Given the description of an element on the screen output the (x, y) to click on. 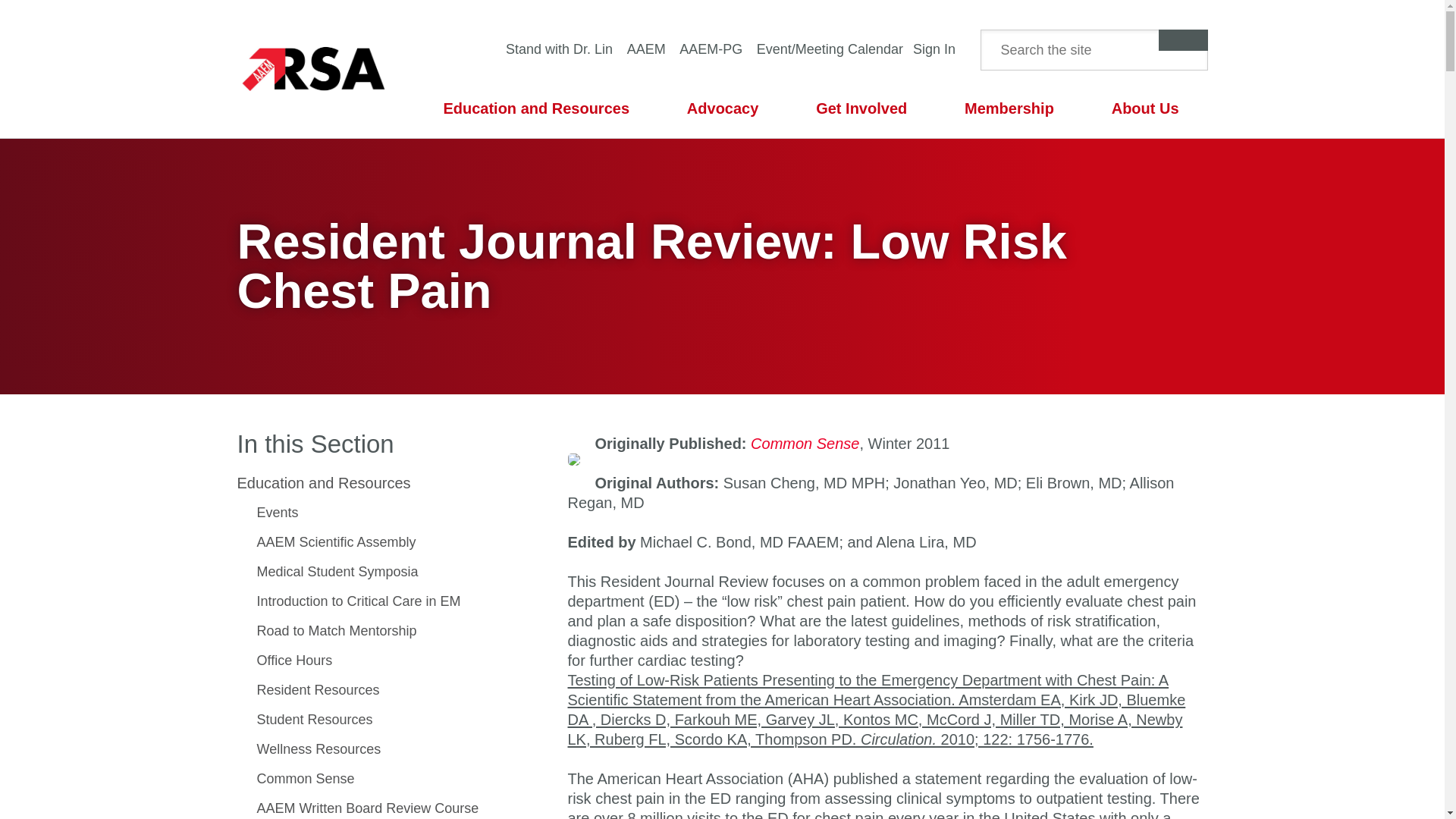
Get Involved (861, 108)
Education and Resources (535, 108)
Sign In (933, 48)
AAEM (645, 48)
Stand with Dr. Lin (558, 48)
Advocacy (722, 108)
AAEM-PG (711, 48)
